Given the description of an element on the screen output the (x, y) to click on. 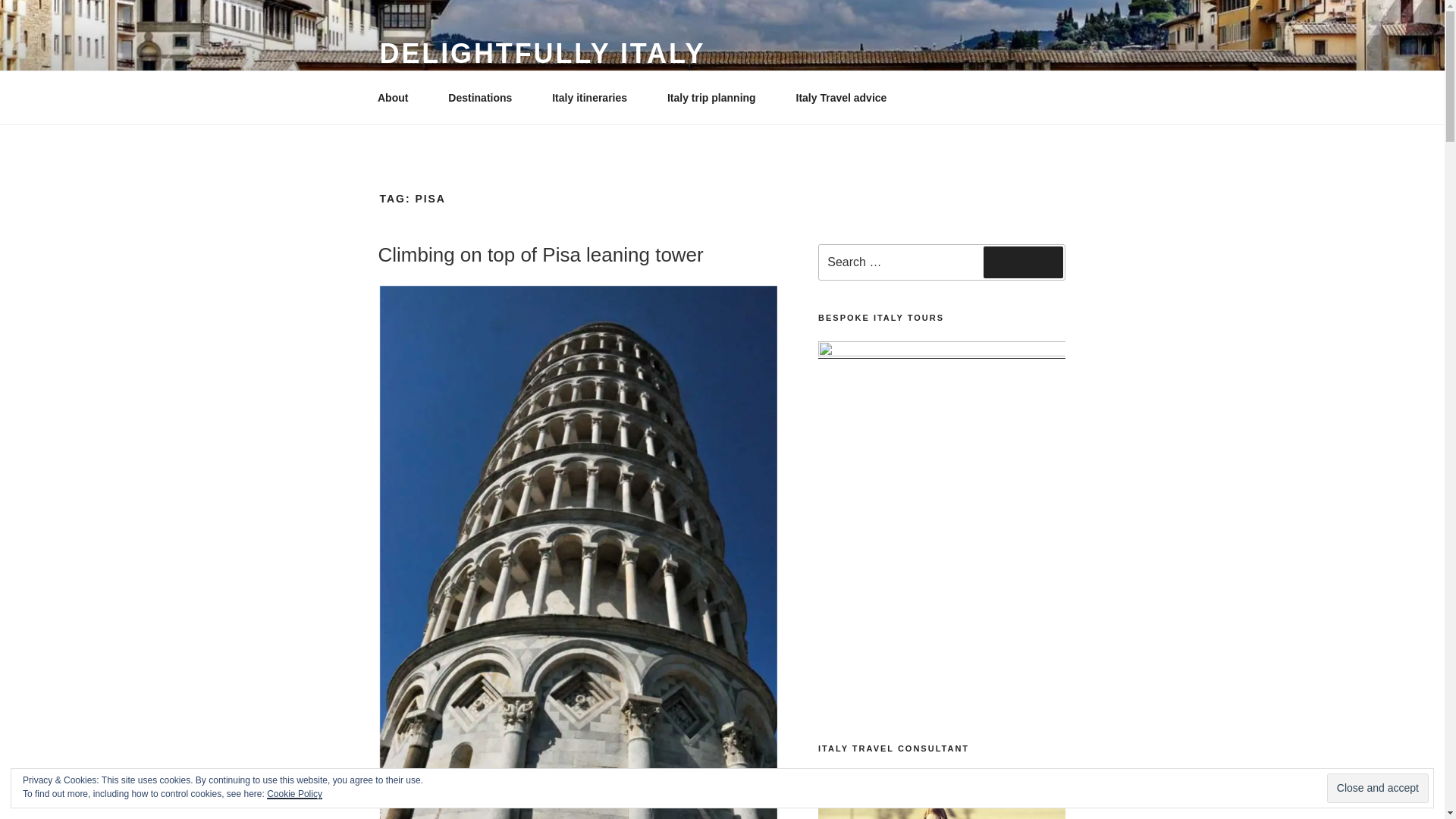
Destinations (485, 97)
Italy itineraries (594, 97)
DELIGHTFULLY ITALY (541, 52)
Italy Travel advice (841, 97)
Close and accept (1377, 788)
Italy trip planning (715, 97)
Climbing on top of Pisa leaning tower (540, 254)
About (397, 97)
